Given the description of an element on the screen output the (x, y) to click on. 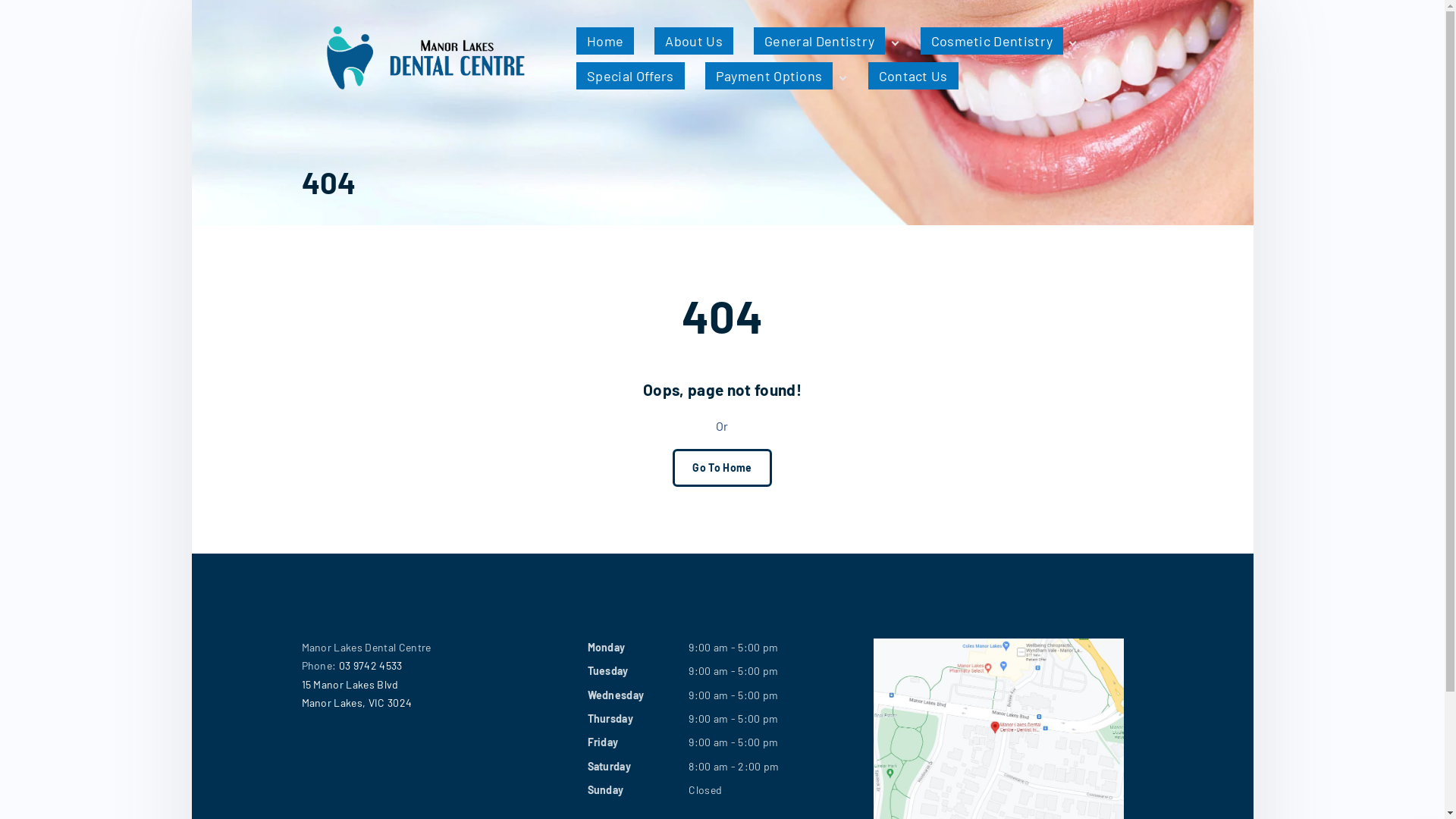
Contact Us Element type: text (913, 75)
General Dentistry Element type: text (819, 40)
Cosmetic Dentistry Element type: text (992, 40)
15 Manor Lakes Blvd
Manor Lakes, VIC 3024 Element type: text (436, 693)
Go To Home Element type: text (721, 467)
About Us Element type: text (693, 40)
03 9742 4533 Element type: text (370, 664)
Home Element type: text (604, 40)
Special Offers Element type: text (630, 75)
Payment Options Element type: text (769, 75)
